Given the description of an element on the screen output the (x, y) to click on. 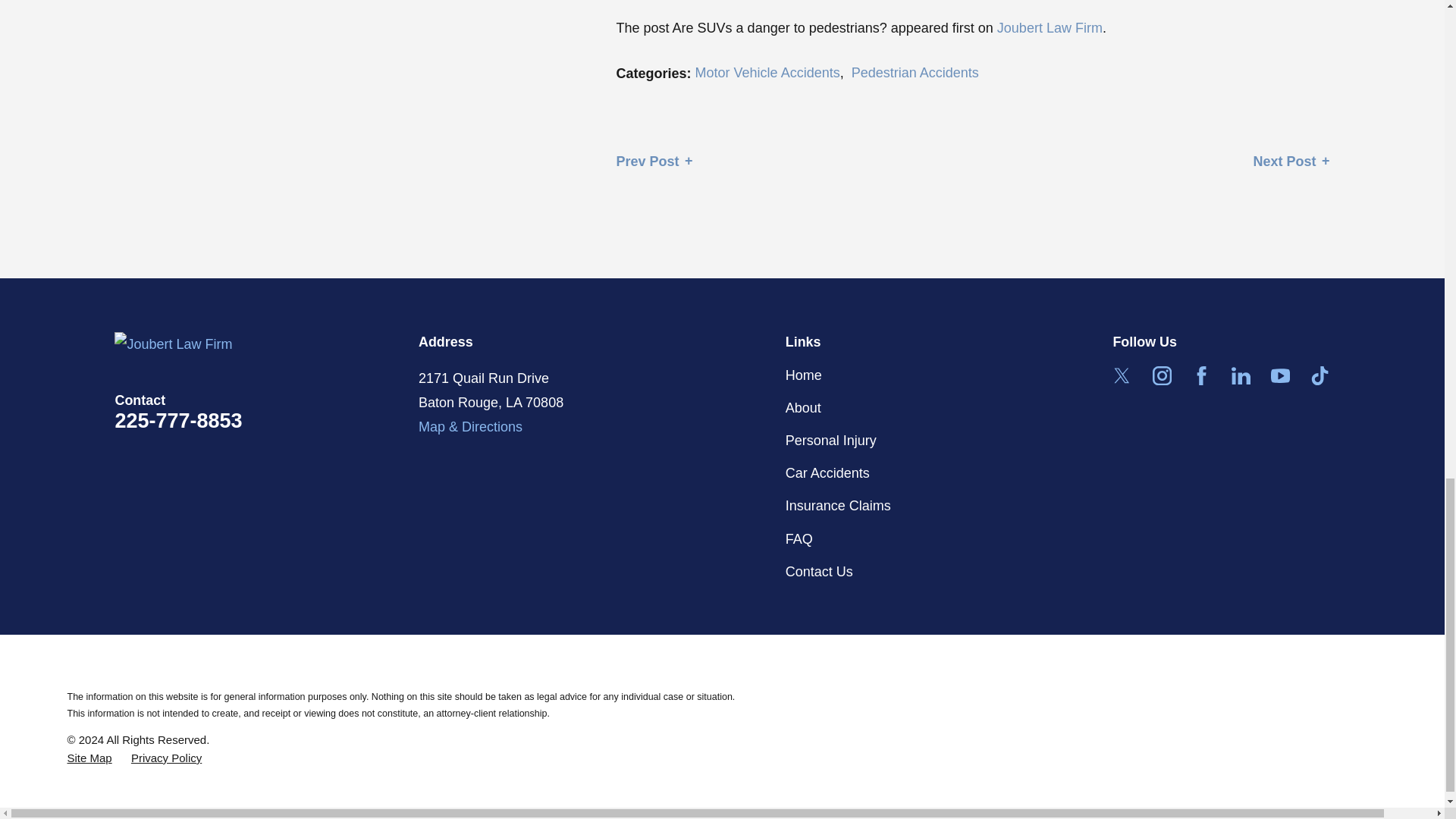
Facebook (1201, 375)
YouTube (1280, 375)
TikTok (1319, 375)
LinkedIn (1240, 375)
Twitter (1121, 375)
Instagram (1162, 375)
Home (267, 344)
